Given the description of an element on the screen output the (x, y) to click on. 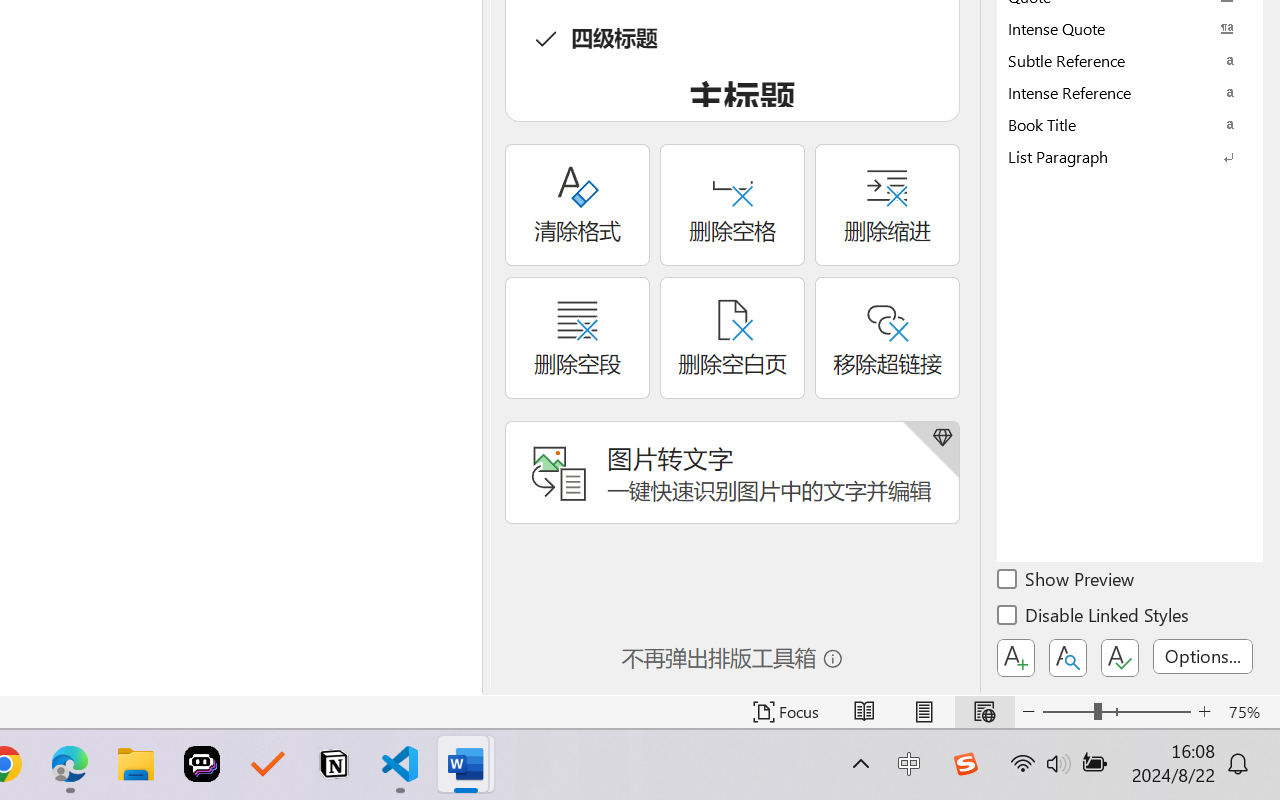
Print Layout (924, 712)
Options... (1203, 656)
Read Mode (864, 712)
Intense Quote (1130, 28)
Disable Linked Styles (1094, 618)
List Paragraph (1130, 156)
Zoom (1116, 712)
Intense Reference (1130, 92)
